Given the description of an element on the screen output the (x, y) to click on. 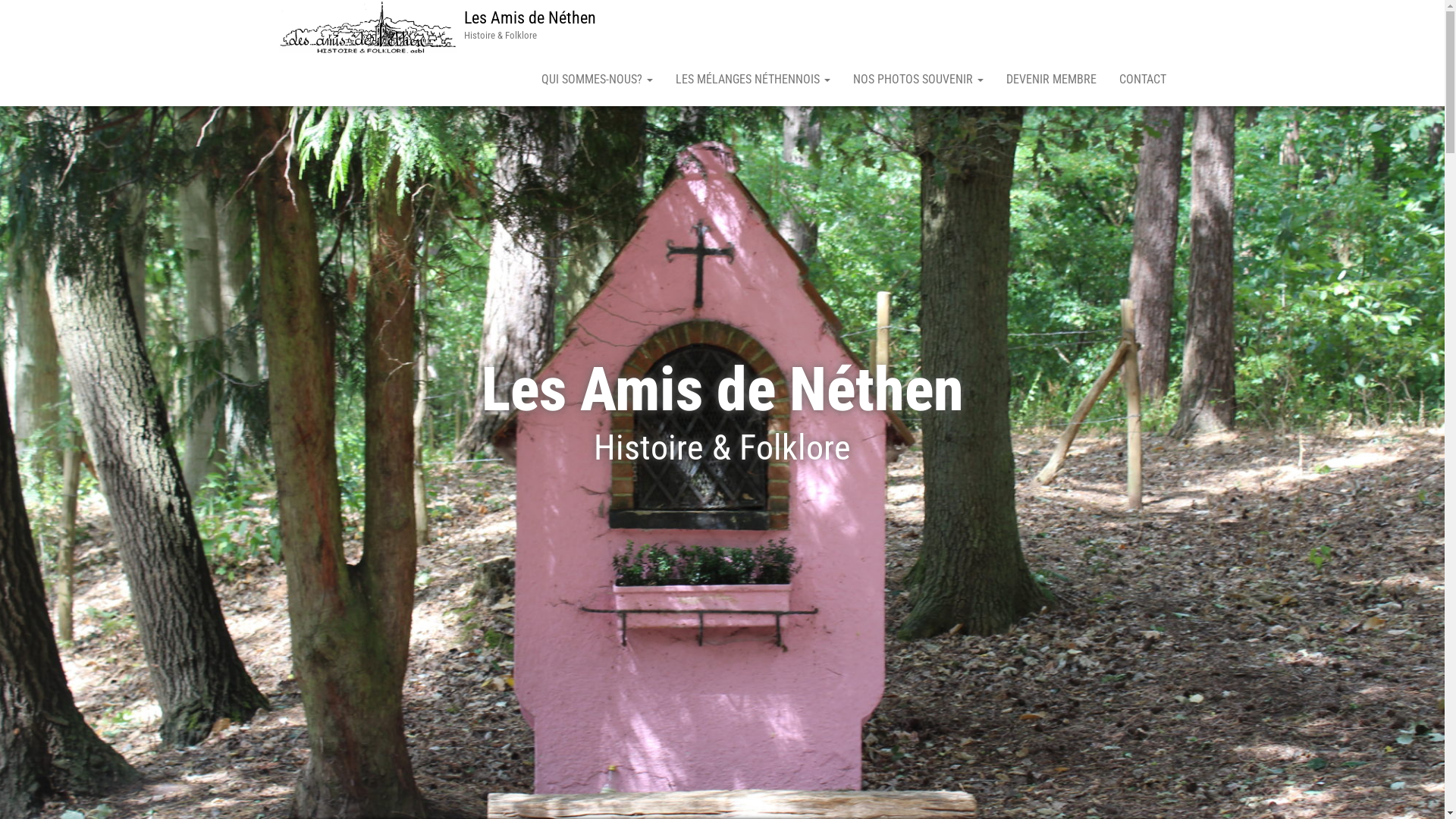
CONTACT Element type: text (1141, 79)
NOS PHOTOS SOUVENIR Element type: text (917, 79)
DEVENIR MEMBRE Element type: text (1050, 79)
QUI SOMMES-NOUS? Element type: text (596, 79)
